Given the description of an element on the screen output the (x, y) to click on. 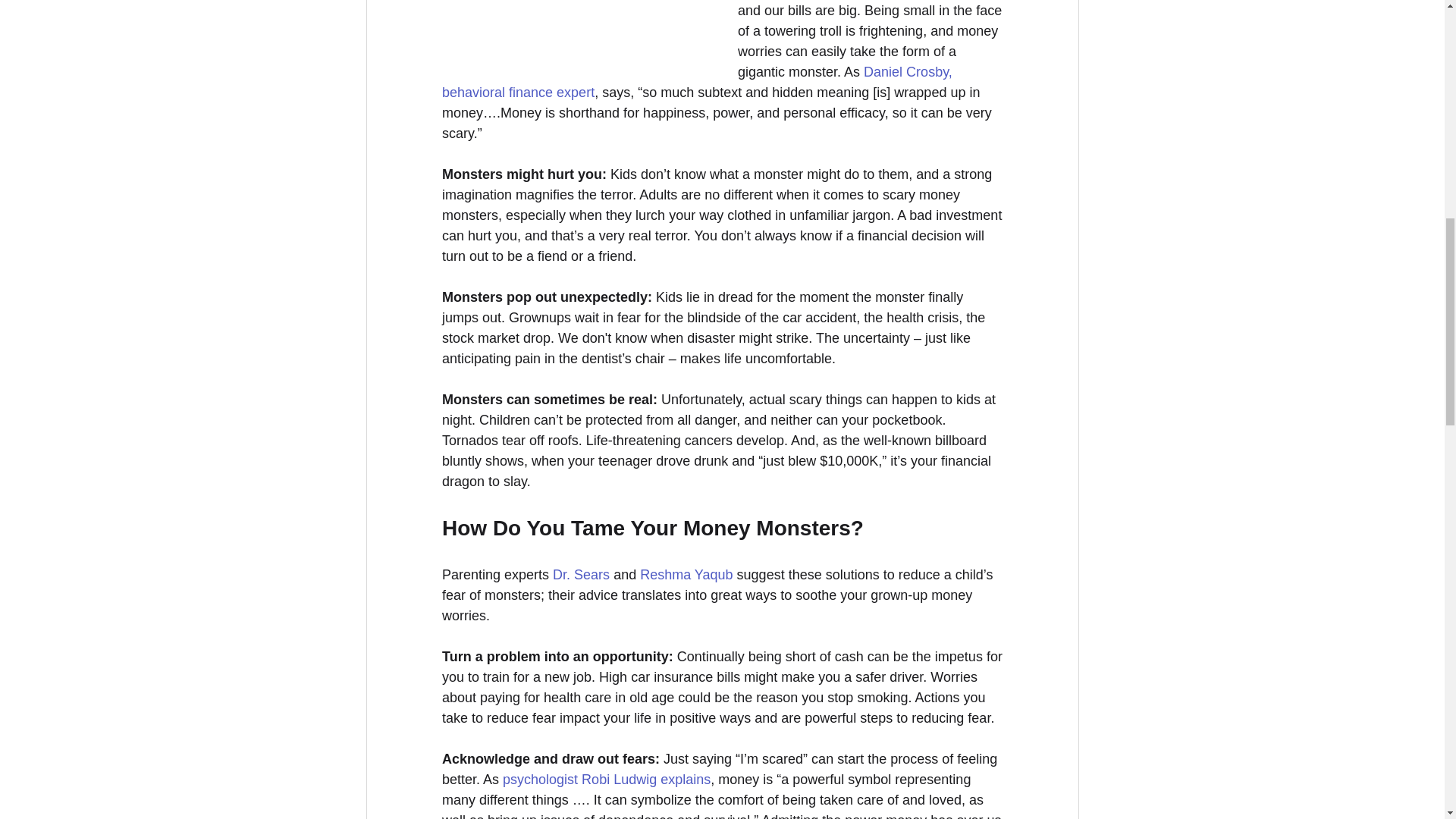
psychologist Robi Ludwig explains (606, 779)
Dr. Sears (581, 574)
Daniel Crosby, behavioral finance expert (698, 81)
Reshma Yaqub (686, 574)
